Given the description of an element on the screen output the (x, y) to click on. 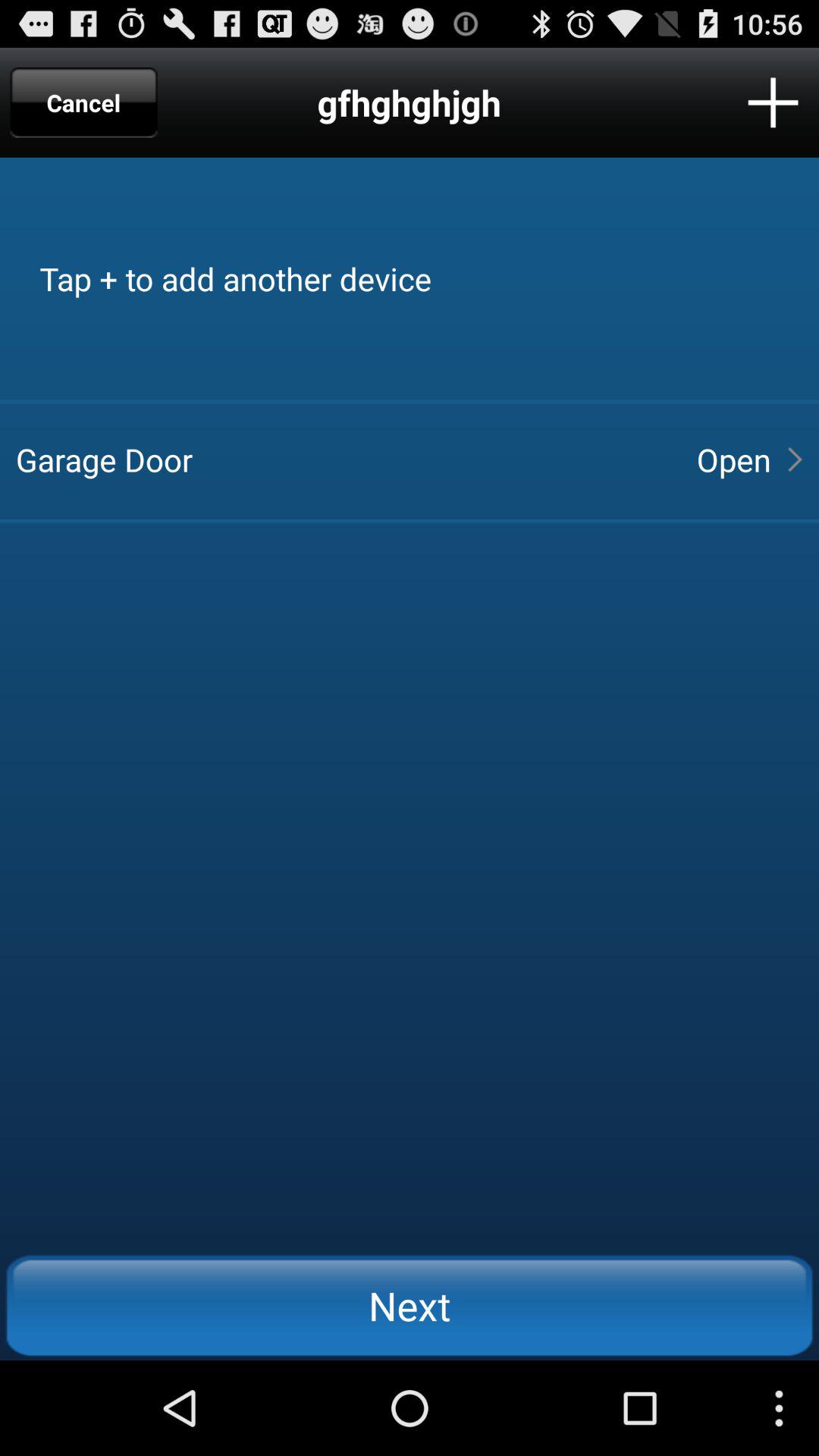
launch the icon to the left of the gfhghghjgh icon (83, 102)
